Given the description of an element on the screen output the (x, y) to click on. 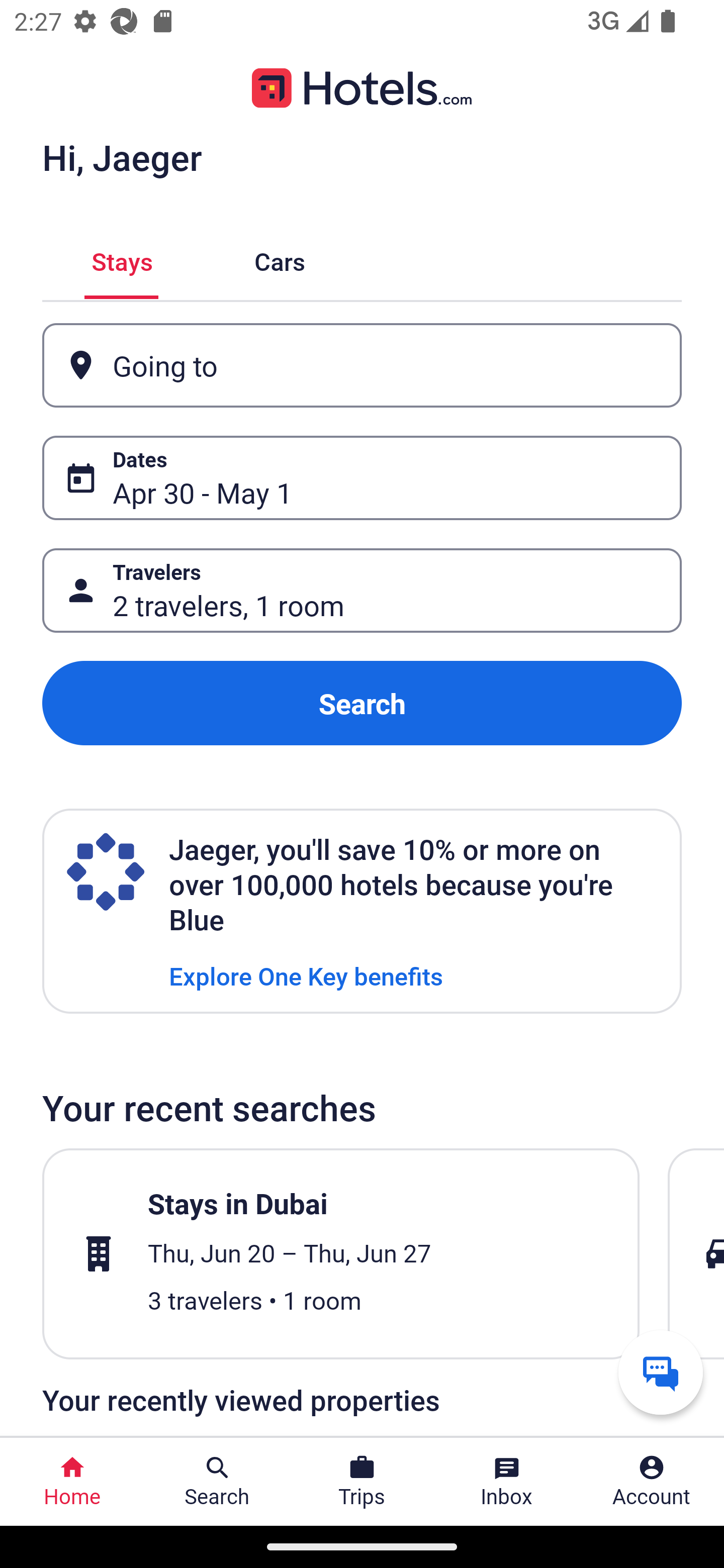
Hi, Jaeger (121, 156)
Cars (279, 259)
Going to Button (361, 365)
Dates Button Apr 30 - May 1 (361, 477)
Travelers Button 2 travelers, 1 room (361, 590)
Search (361, 702)
Get help from a virtual agent (660, 1371)
Search Search Button (216, 1481)
Trips Trips Button (361, 1481)
Inbox Inbox Button (506, 1481)
Account Profile. Button (651, 1481)
